Given the description of an element on the screen output the (x, y) to click on. 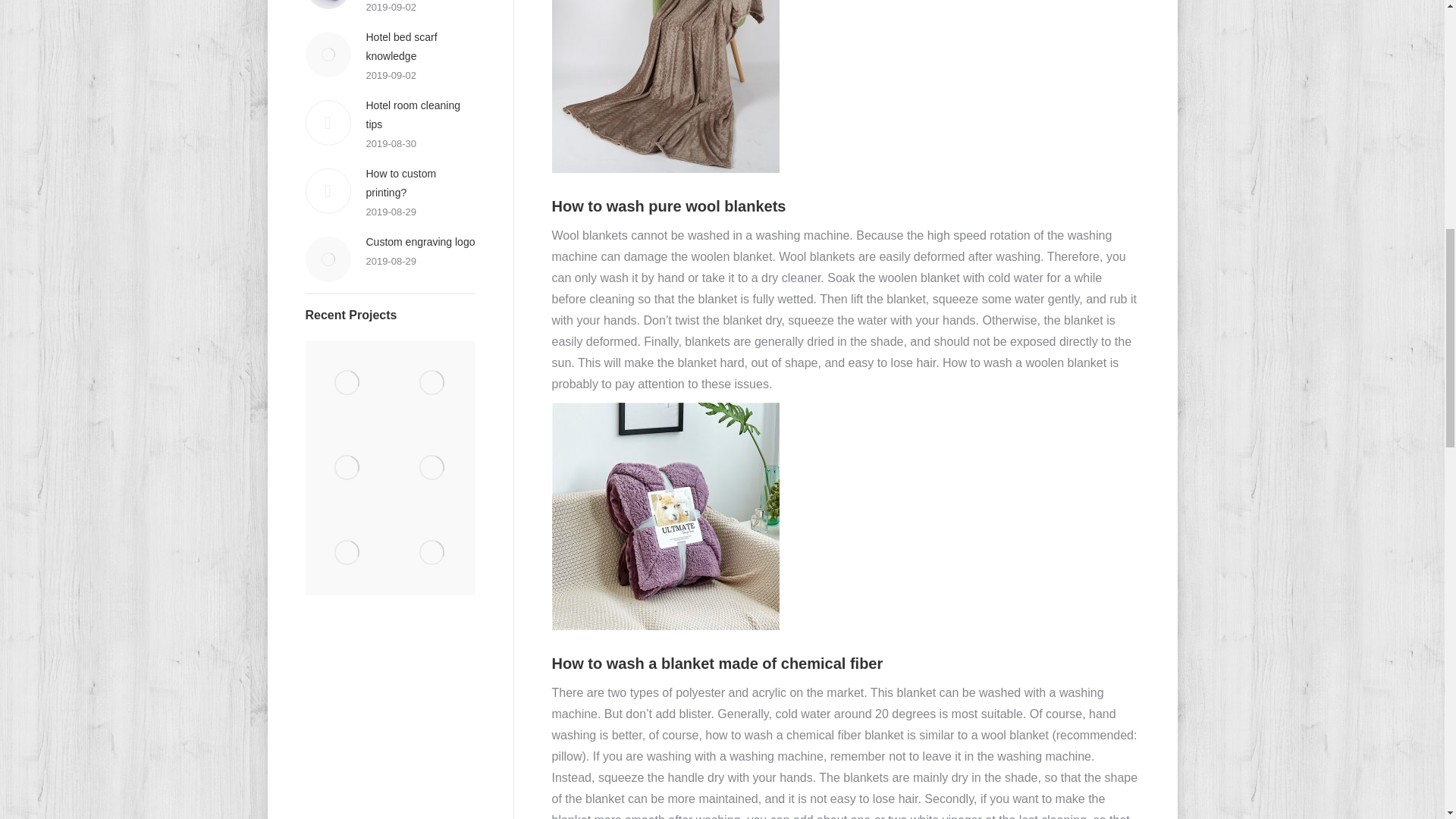
Custom printed cotton bed cover (432, 552)
Brushed cotton bed cover (347, 382)
Thickened non-slip mattress topper (347, 467)
Color hotel cotton mattress topper (432, 467)
Cotton embossed hotel bedspread (347, 552)
Jacquard terry cloth bed cover (432, 382)
